Given the description of an element on the screen output the (x, y) to click on. 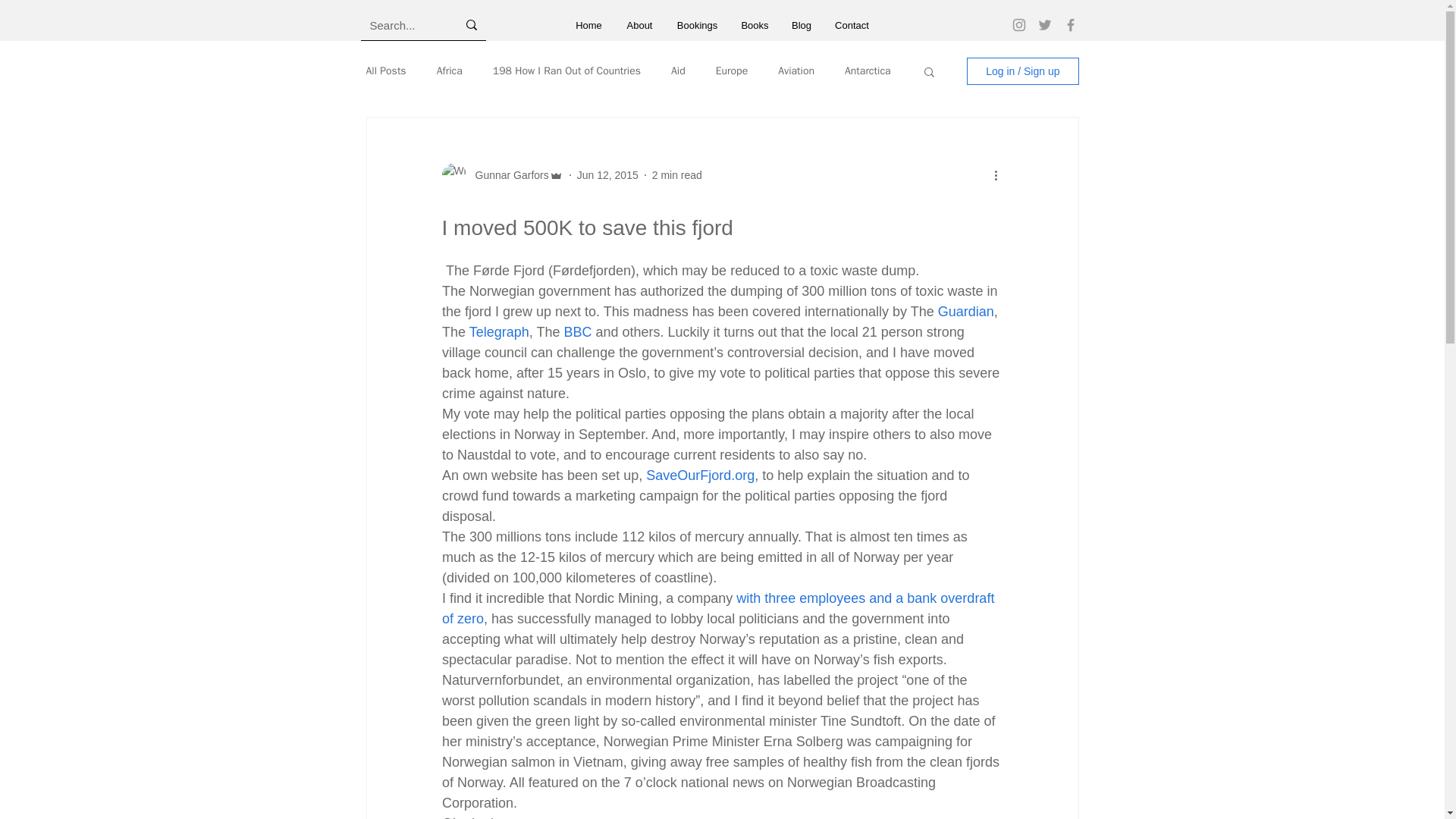
Antarctica (867, 70)
198 How I Ran Out of Countries (566, 70)
Europe (732, 70)
Africa (449, 70)
Aid (678, 70)
Books (754, 25)
Blog (801, 25)
Bookings (697, 25)
Contact (851, 25)
About (639, 25)
Home (588, 25)
Aviation (795, 70)
Gunnar Garfors (506, 174)
All Posts (385, 70)
2 min read (676, 174)
